Given the description of an element on the screen output the (x, y) to click on. 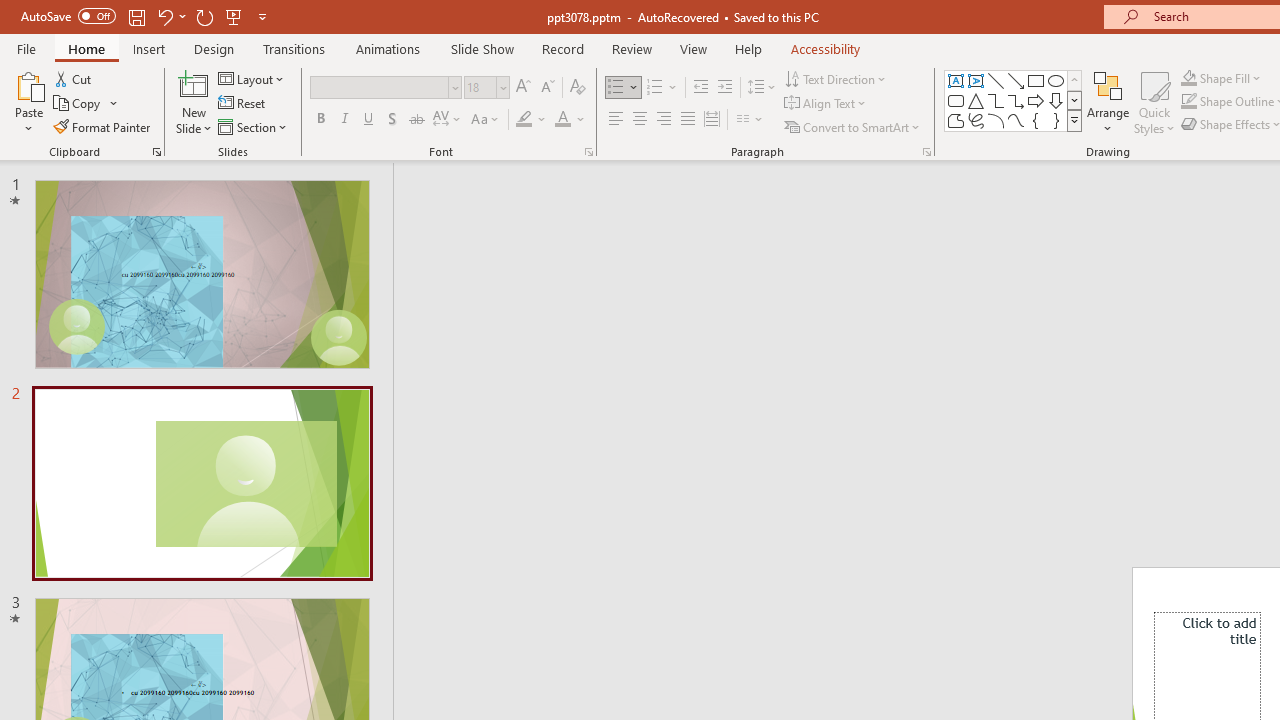
Design (214, 48)
Bullets (623, 87)
Oval (1055, 80)
Home (86, 48)
More Options (1232, 78)
Customize Quick Access Toolbar (262, 15)
Font Color Red (562, 119)
Decrease Indent (700, 87)
Columns (750, 119)
Section (254, 126)
Bold (320, 119)
Save (136, 15)
Copy (85, 103)
Quick Styles (1154, 102)
